Given the description of an element on the screen output the (x, y) to click on. 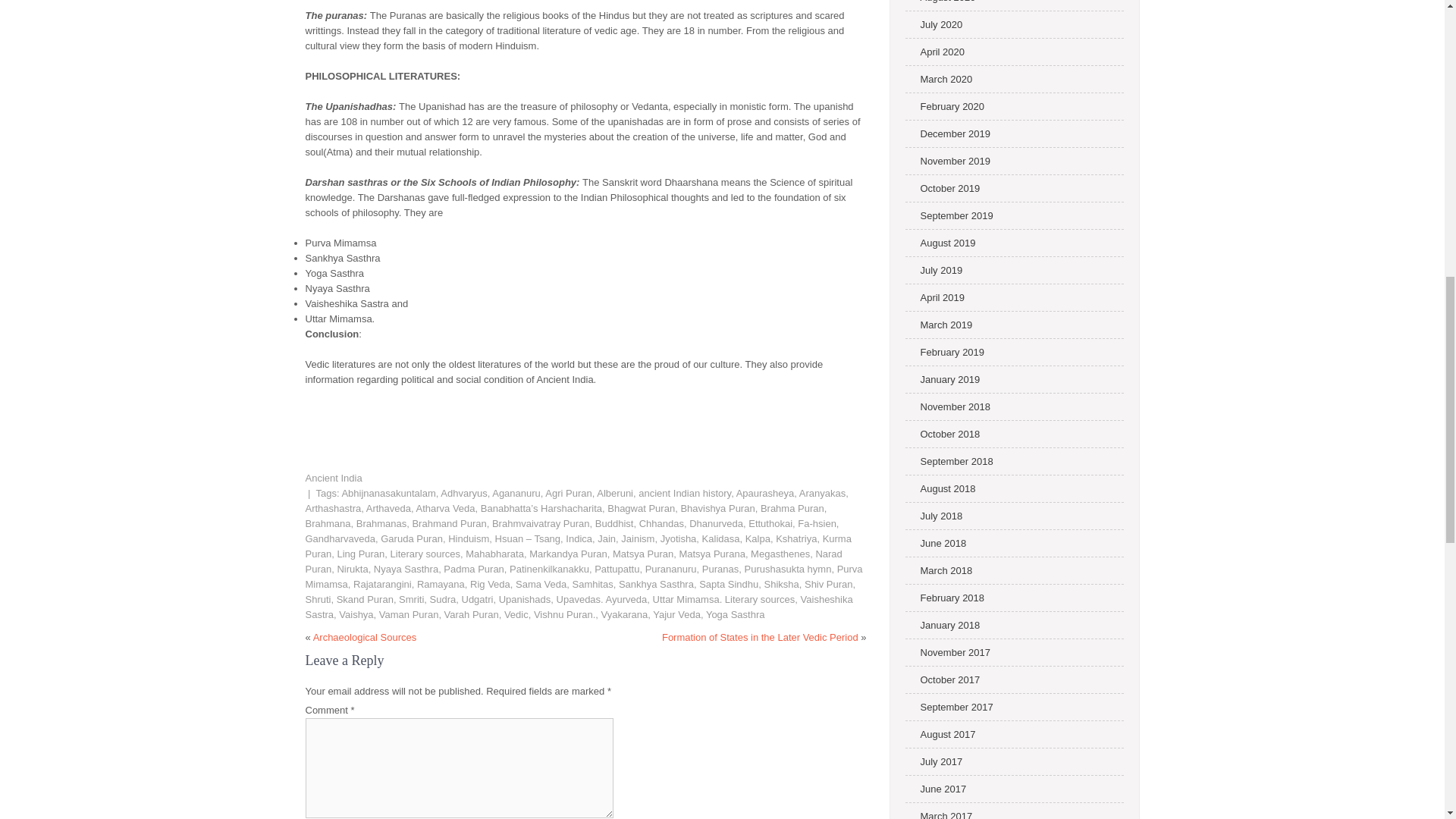
Agananuru (516, 492)
Brahmana (327, 523)
Ancient India (332, 478)
Brahmand Puran (449, 523)
Adhvaryus (463, 492)
Brahmvaivatray Puran (540, 523)
Apaurasheya (765, 492)
Alberuni (614, 492)
Abhijnanasakuntalam (387, 492)
Brahma Puran (792, 508)
Arthaveda (388, 508)
ancient Indian history (684, 492)
Chhandas (661, 523)
Brahmanas (381, 523)
Agri Puran (567, 492)
